Given the description of an element on the screen output the (x, y) to click on. 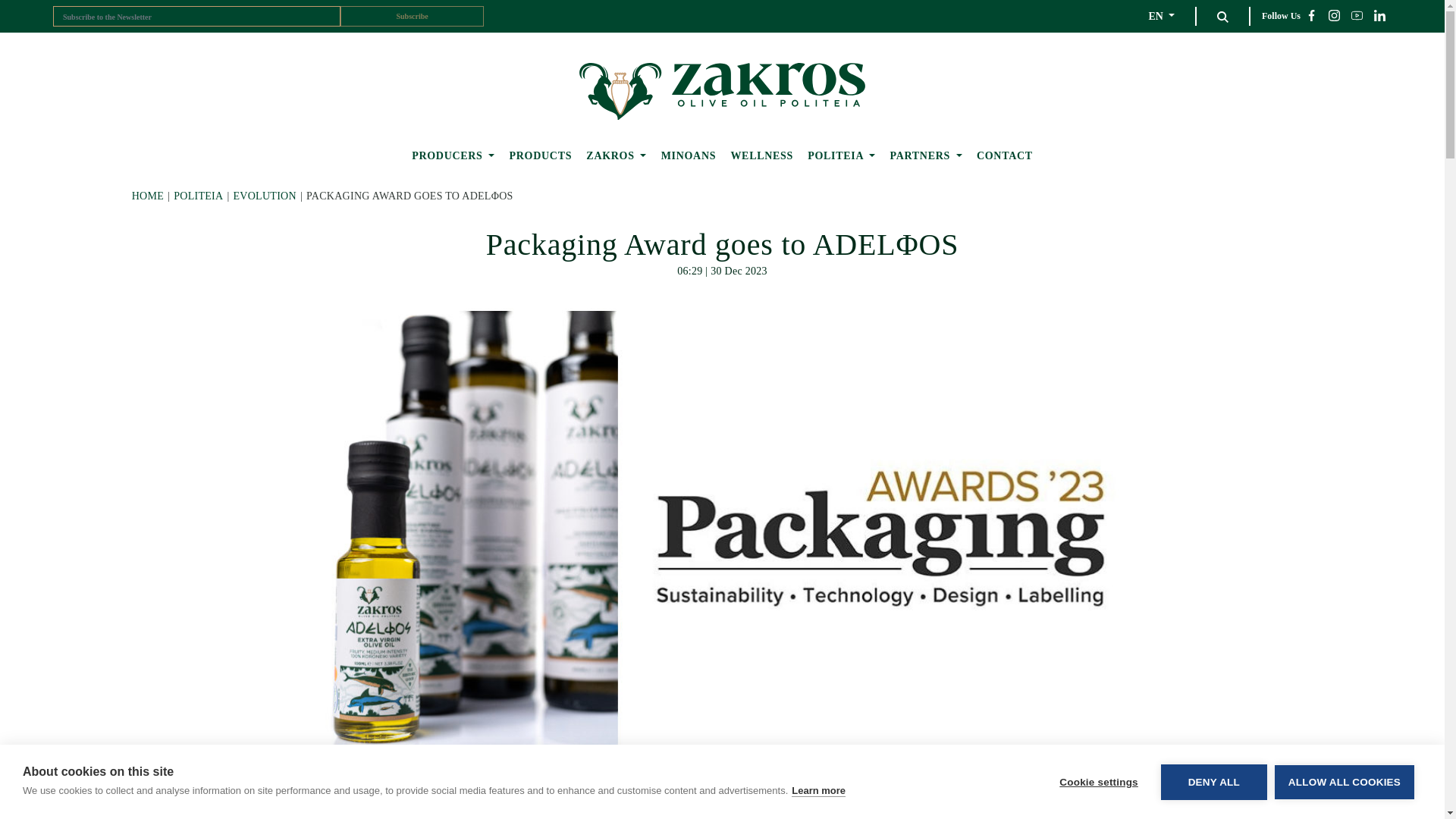
ALLOW ALL COOKIES (1344, 781)
POLITEIA (841, 155)
WELLNESS (761, 155)
ZAKROS (616, 155)
EN (1160, 16)
Cookie settings (1098, 787)
PRODUCTS (540, 155)
Learn more (818, 801)
MINOANS (688, 155)
DENY ALL (1213, 784)
Subscribe (411, 15)
PRODUCERS (453, 155)
